Given the description of an element on the screen output the (x, y) to click on. 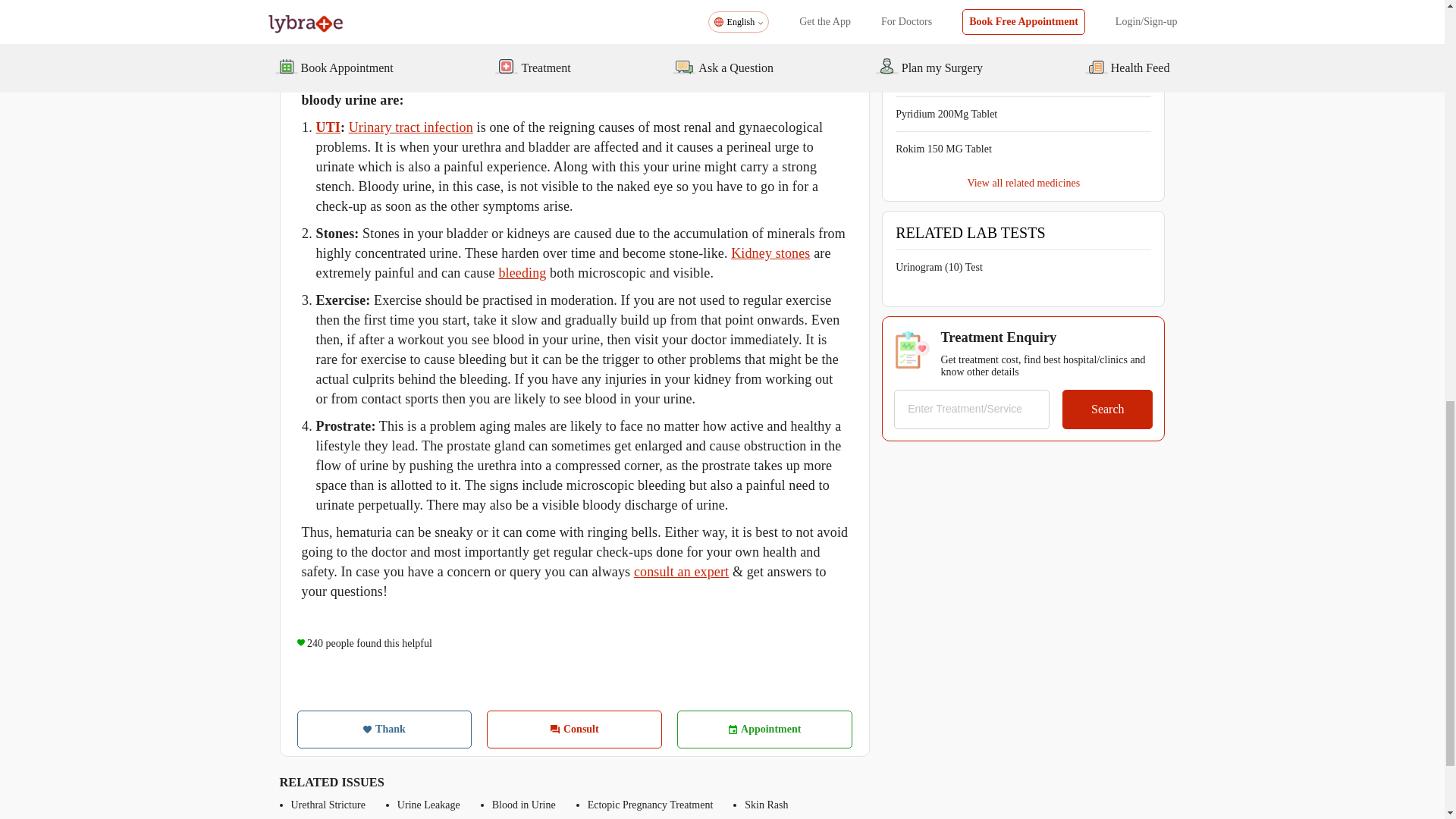
bleeding (521, 272)
Urine Leakage (428, 805)
Urinary tract infection (411, 127)
Thank (384, 729)
Kidney stones (769, 253)
Appointment (764, 729)
UTI (327, 127)
Urethral Stricture (328, 805)
Ectopic Pregnancy Treatment (650, 805)
Consult (574, 729)
